Given the description of an element on the screen output the (x, y) to click on. 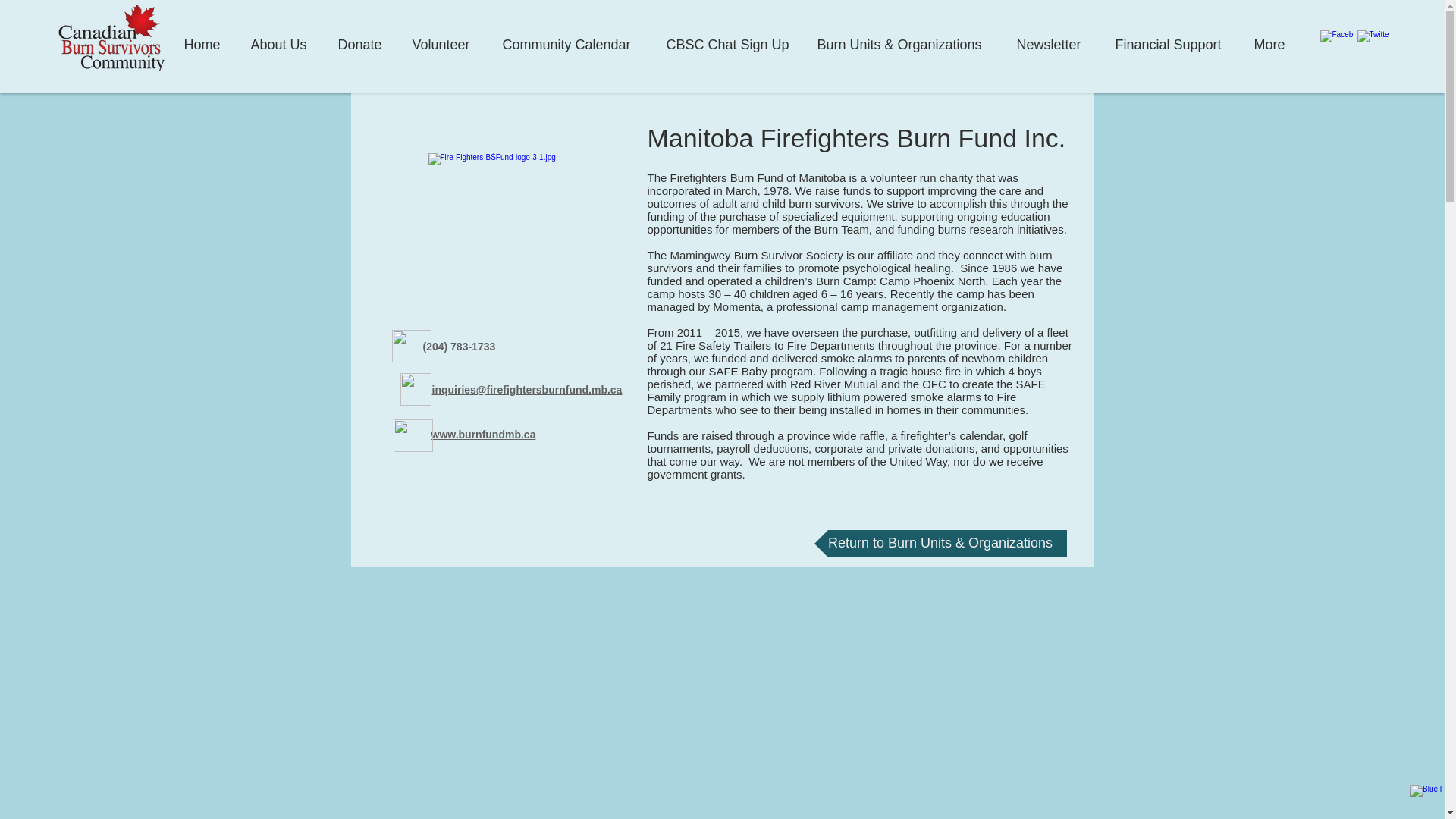
Home (202, 37)
About Us (279, 37)
www.burnfundmb.ca (482, 434)
Donate (361, 37)
Newsletter (1051, 37)
Community Calendar (569, 37)
CBSC Chat Sign Up (727, 37)
Volunteer (443, 37)
Financial Support (1170, 37)
